Given the description of an element on the screen output the (x, y) to click on. 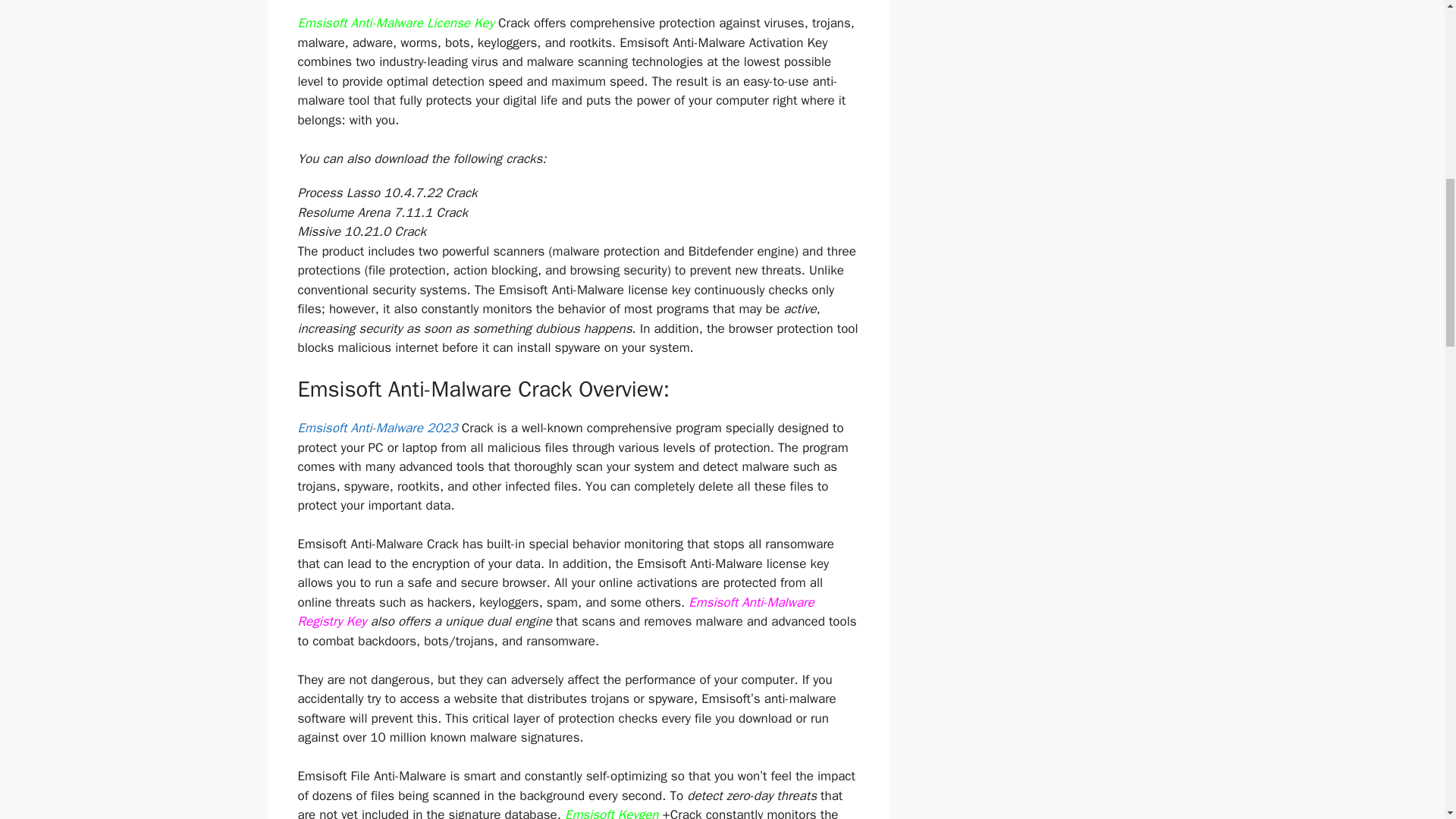
Process Lasso 10.4.7.22 Crack (387, 192)
Missive 10.21.0 Crack (361, 231)
Resolume Arena 7.11.1 Crack (382, 212)
Emsisoft Anti-Malware 2023 (377, 427)
